Given the description of an element on the screen output the (x, y) to click on. 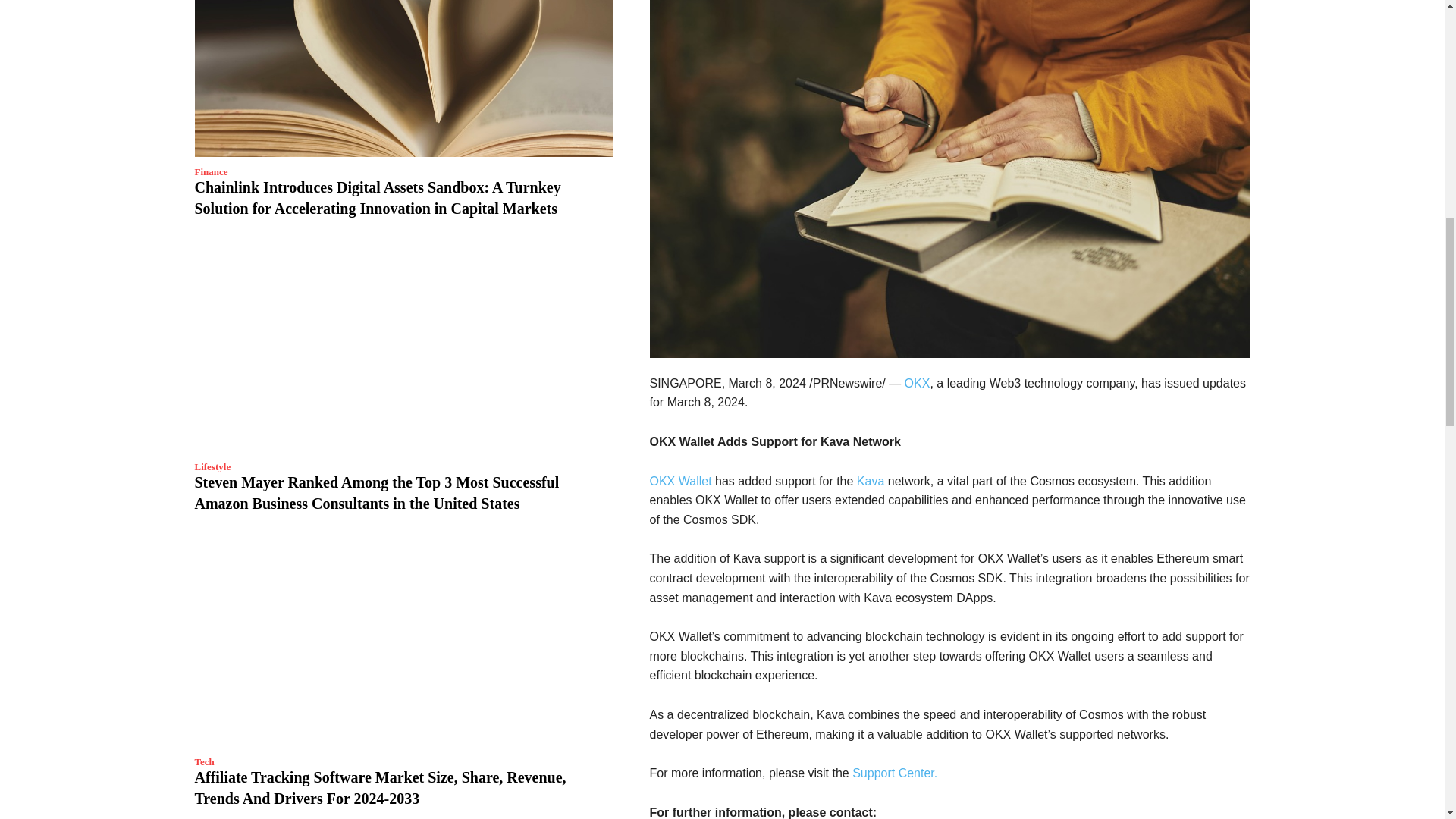
Lifestyle (211, 466)
Tech (203, 761)
Finance (210, 171)
